Given the description of an element on the screen output the (x, y) to click on. 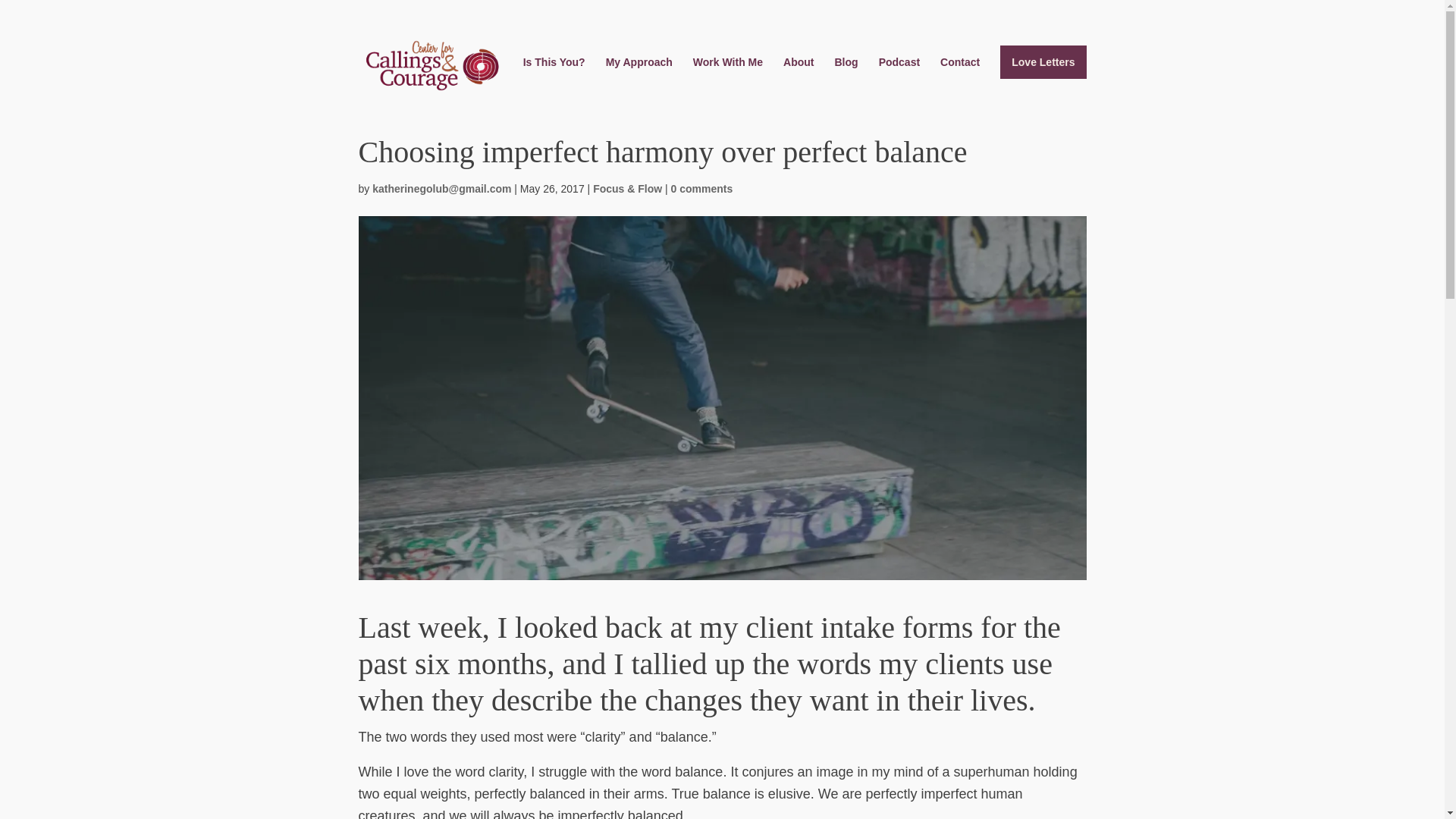
Is This You? (553, 74)
Podcast (899, 74)
0 comments (702, 188)
My Approach (638, 74)
Contact (959, 74)
Work With Me (727, 74)
Love Letters (1043, 61)
